Given the description of an element on the screen output the (x, y) to click on. 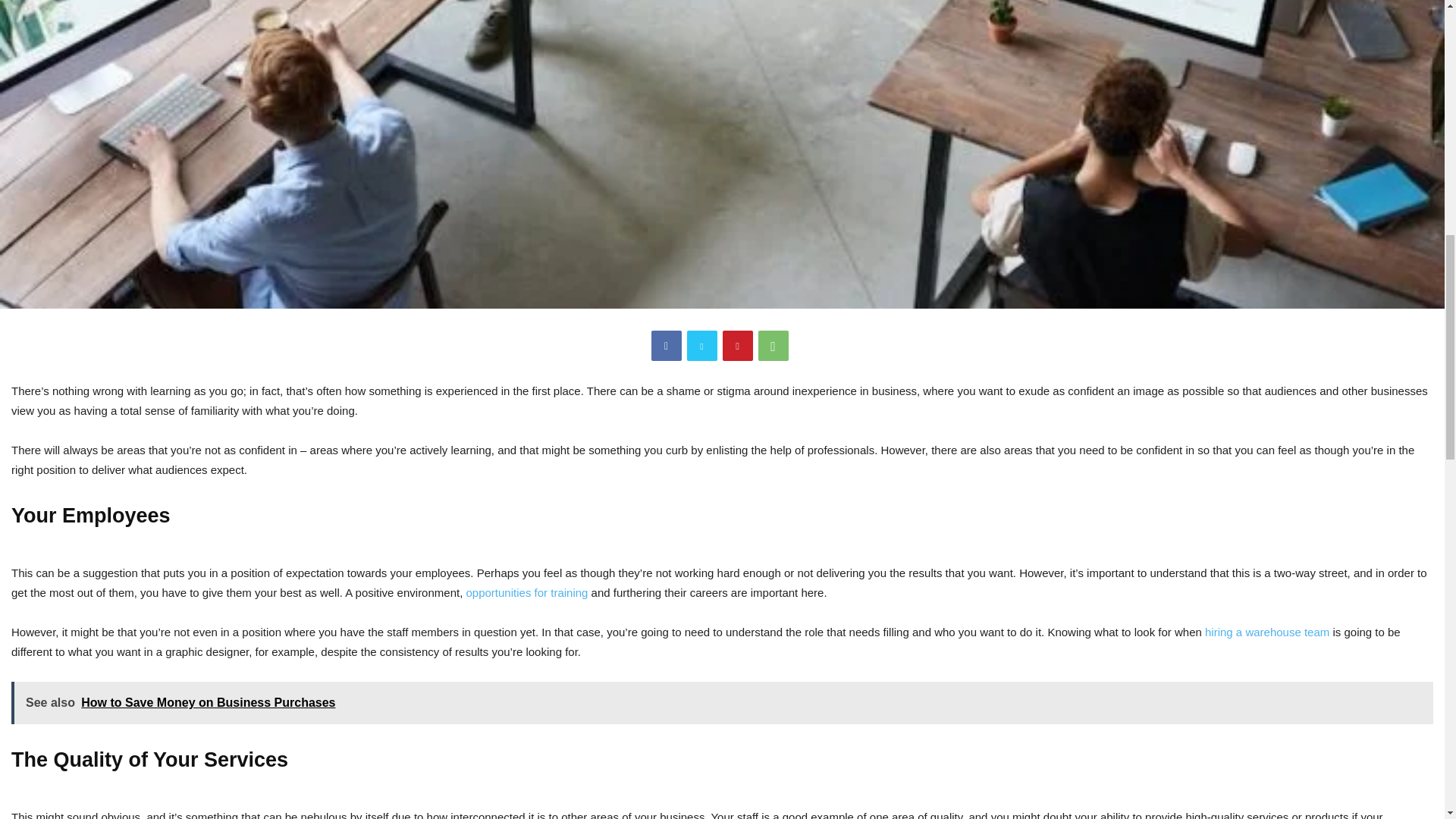
Twitter (702, 345)
WhatsApp (773, 345)
Facebook (665, 345)
Pinterest (737, 345)
